Given the description of an element on the screen output the (x, y) to click on. 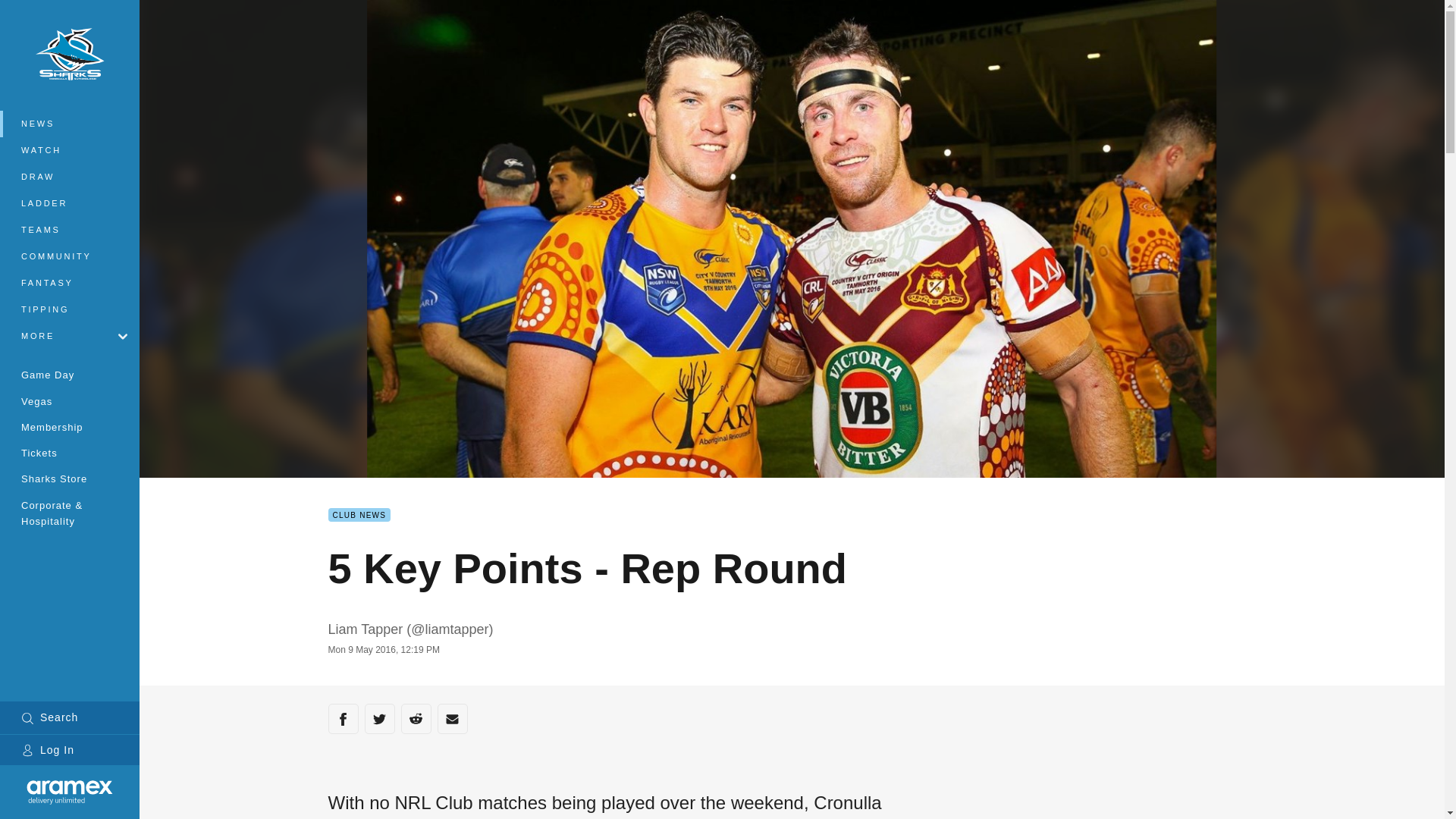
Share via Email (451, 718)
Tickets (69, 452)
TIPPING (69, 309)
CLUB NEWS (358, 514)
Vegas (69, 401)
Membership (69, 426)
DRAW (69, 176)
Log In (69, 749)
LADDER (69, 203)
NEWS (69, 123)
